Given the description of an element on the screen output the (x, y) to click on. 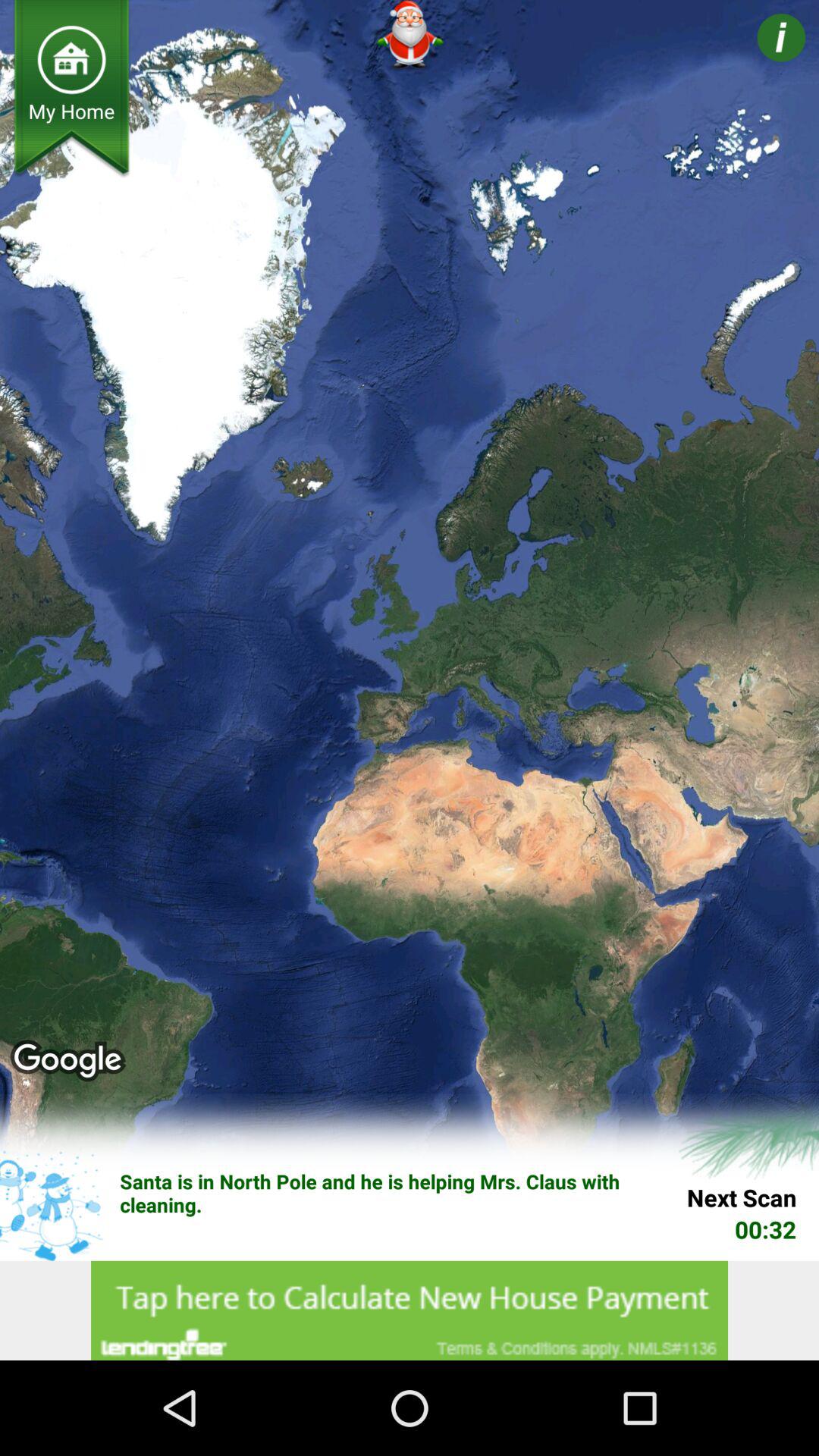
advertisements option (409, 1310)
